Given the description of an element on the screen output the (x, y) to click on. 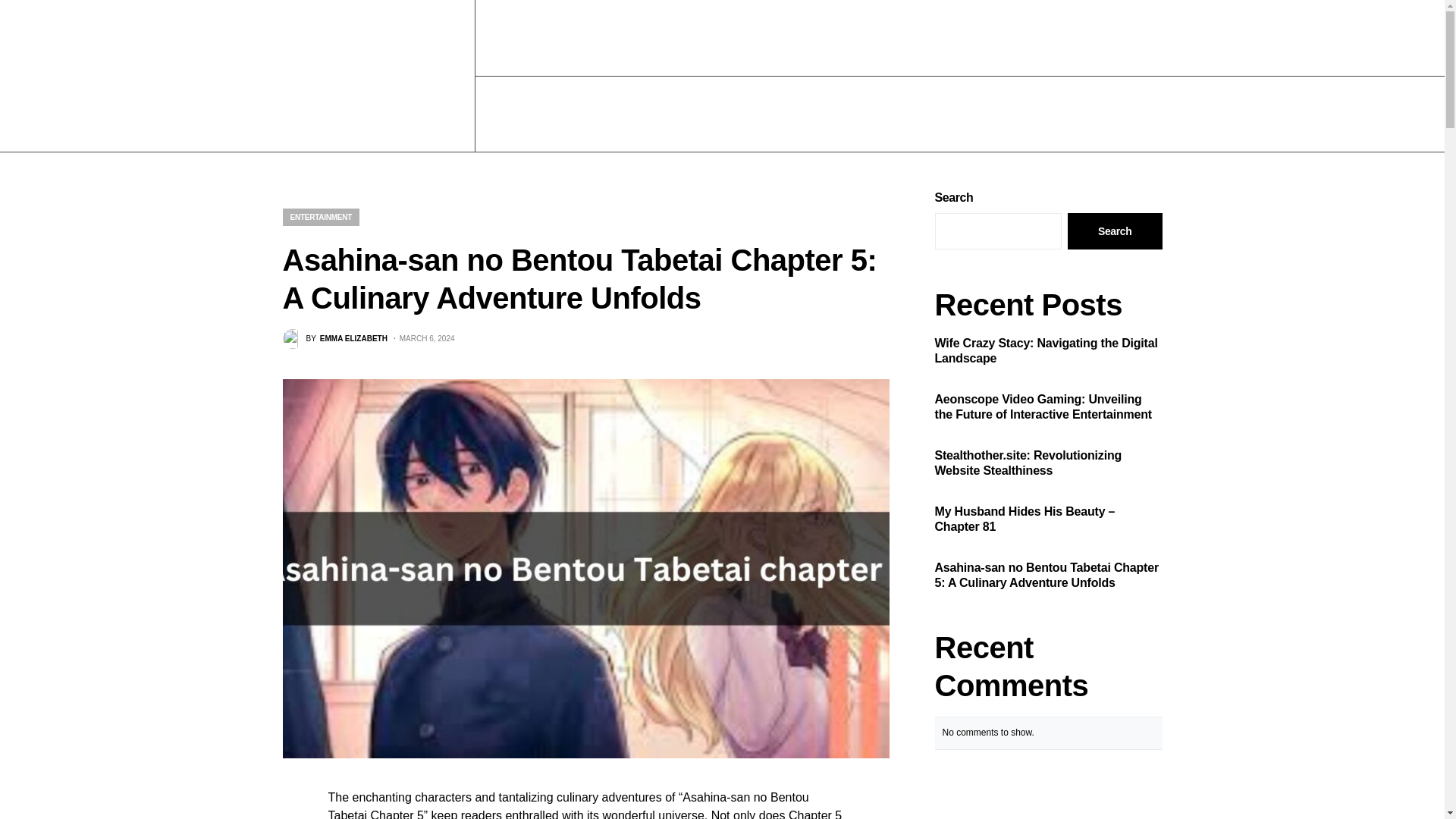
View all posts by Emma Elizabeth (334, 338)
